Given the description of an element on the screen output the (x, y) to click on. 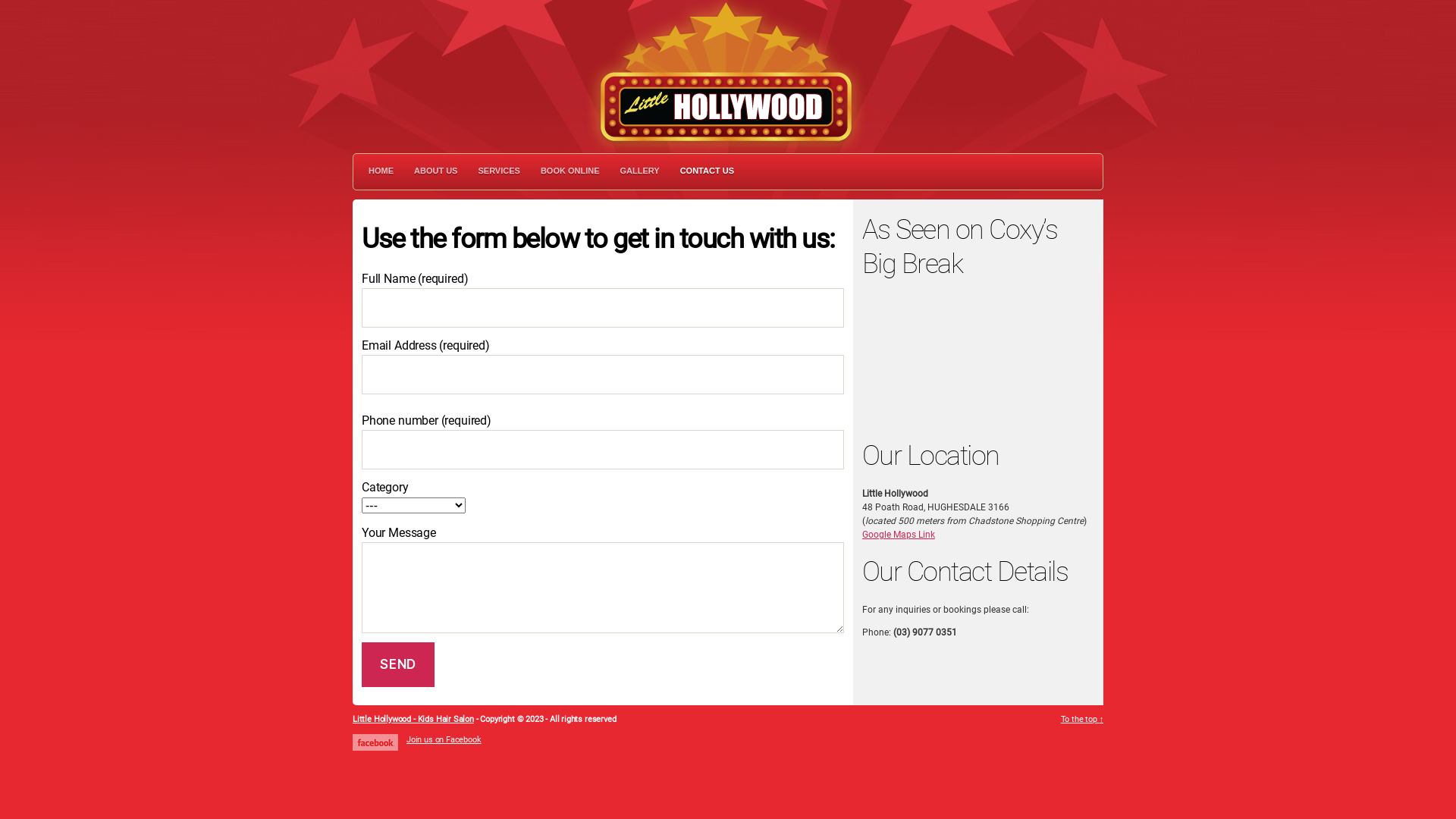
CONTACT US Element type: text (707, 170)
SERVICES Element type: text (498, 170)
Send Element type: text (397, 664)
GALLERY Element type: text (639, 170)
ABOUT US Element type: text (435, 170)
Google Maps Link Element type: text (898, 534)
HOME Element type: text (380, 170)
BOOK ONLINE Element type: text (569, 170)
Join us on Facebook Element type: text (443, 739)
Little Hollywood - Kids Hair Salon Element type: text (412, 719)
